Given the description of an element on the screen output the (x, y) to click on. 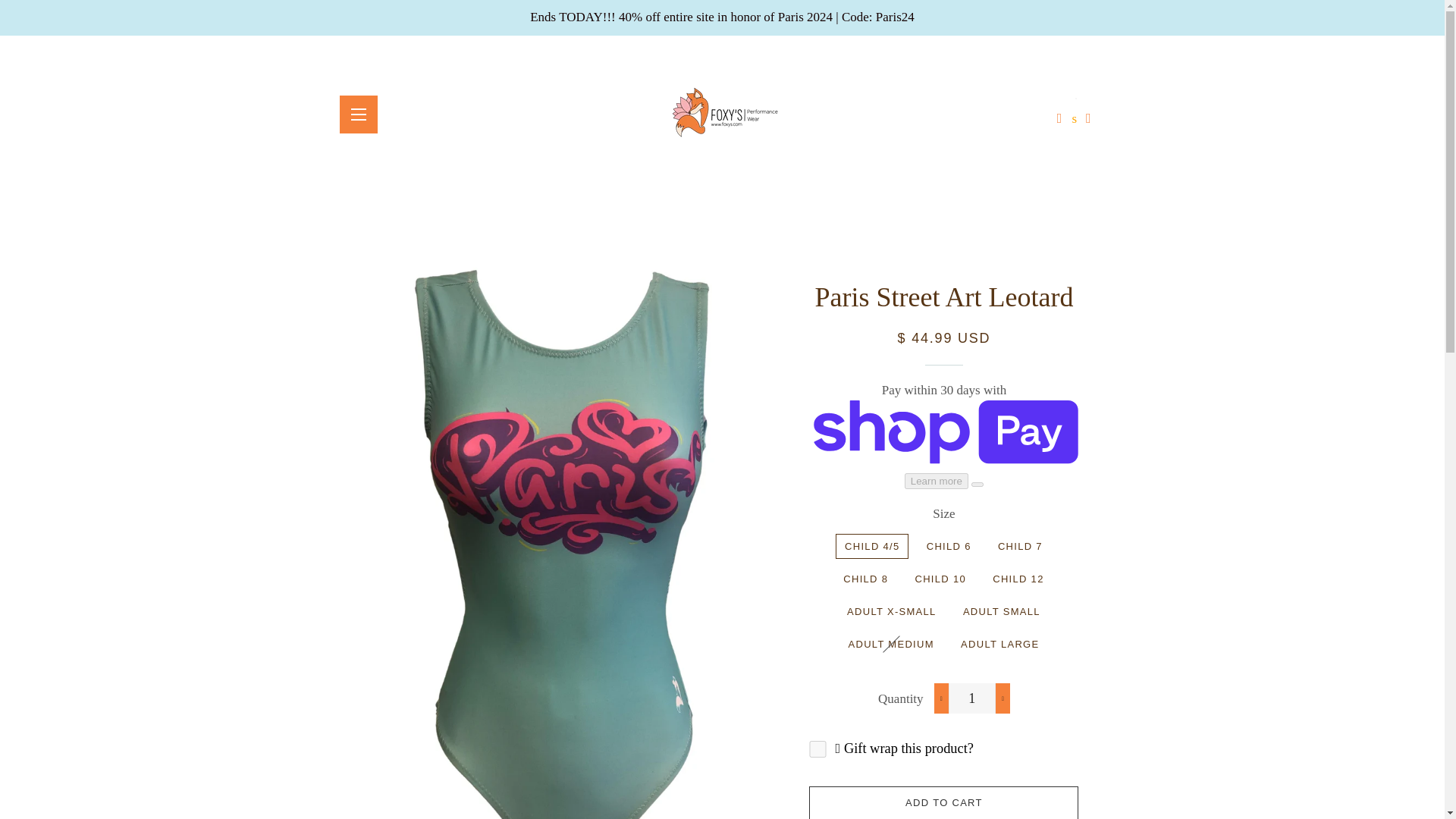
1 (972, 698)
47166666801440 (817, 749)
